Given the description of an element on the screen output the (x, y) to click on. 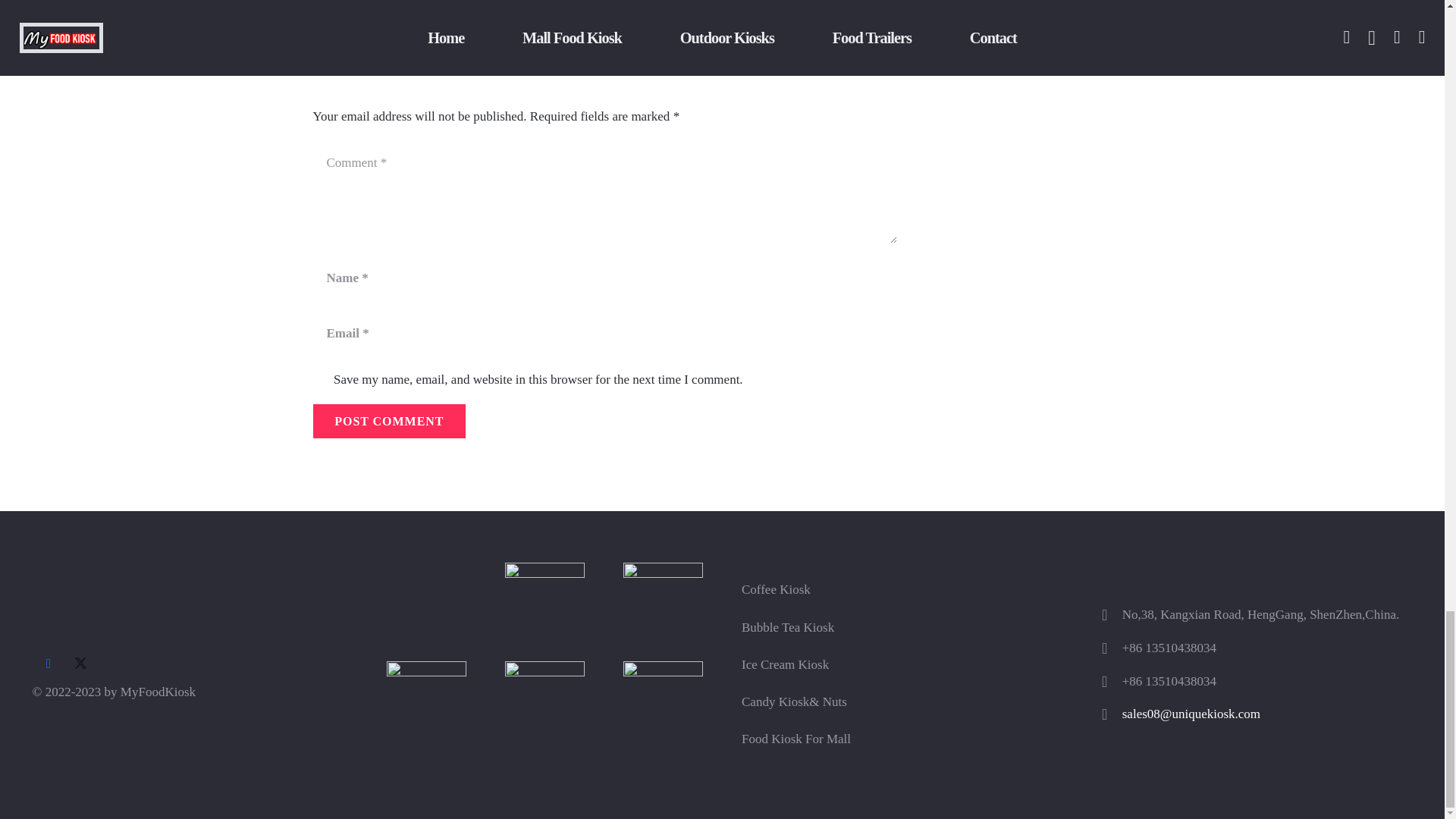
Facebook (48, 664)
Twitter (80, 664)
1 (321, 380)
